Given the description of an element on the screen output the (x, y) to click on. 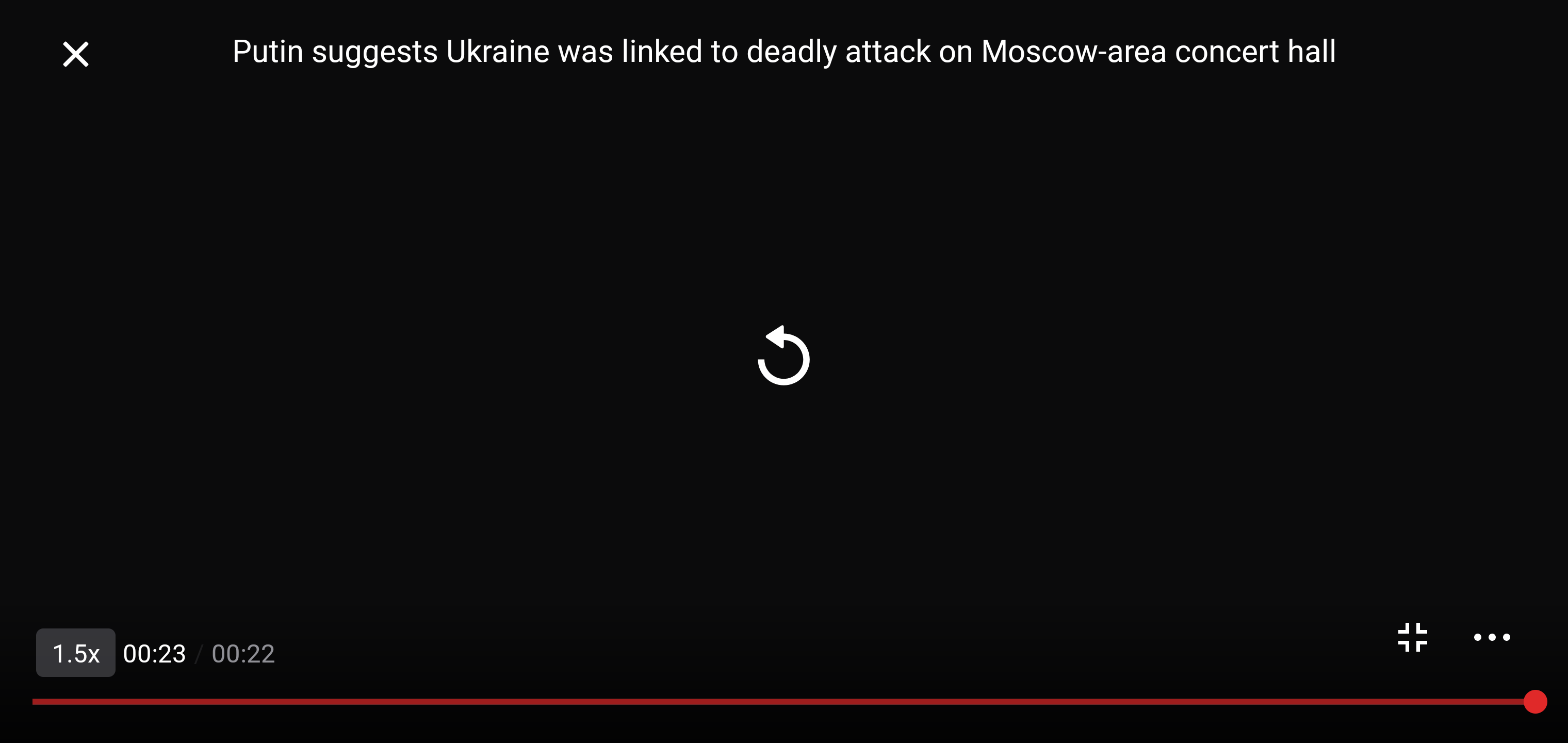
Exit Fullscreen (76, 53)
Replay (783, 354)
Exit Fullscreen (1412, 636)
menu (1491, 636)
1.5x (76, 652)
